Given the description of an element on the screen output the (x, y) to click on. 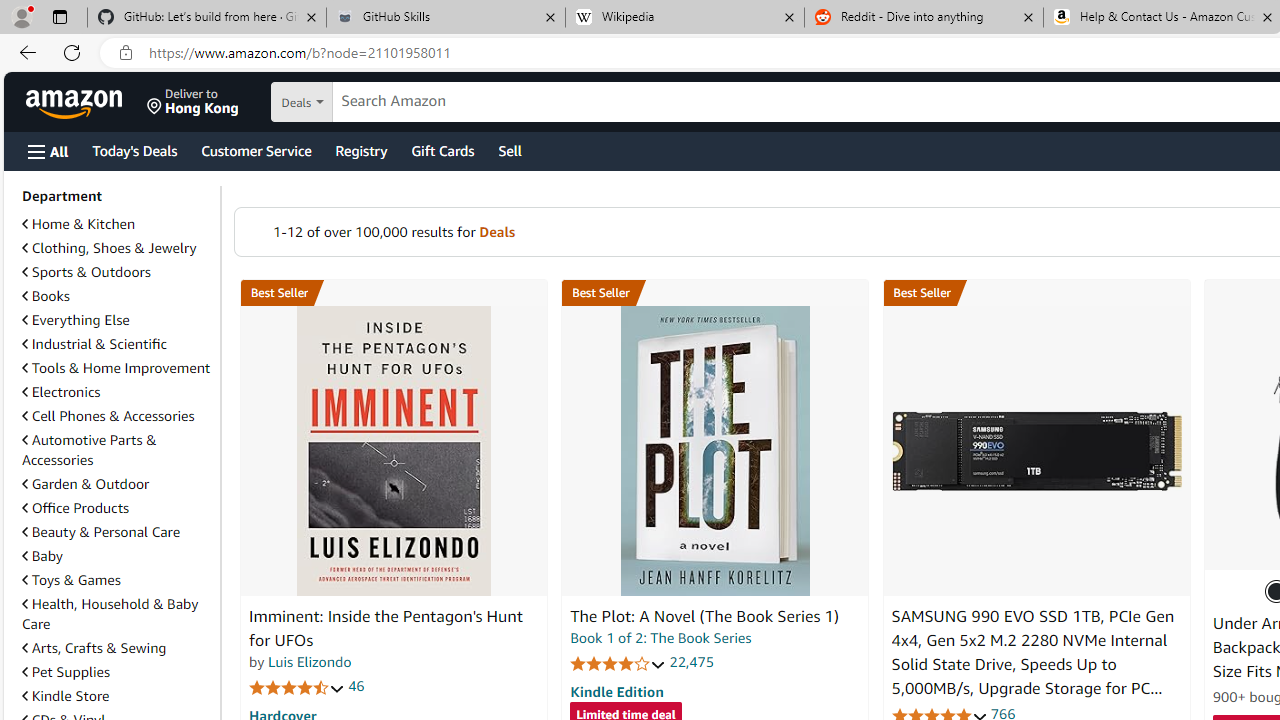
Books (45, 296)
The Plot: A Novel (The Book Series 1) (714, 451)
Registry (360, 150)
4.7 out of 5 stars (297, 686)
Book 1 of 2: The Book Series (660, 638)
Kindle Edition (616, 691)
Everything Else (117, 319)
Industrial & Scientific (94, 343)
Office Products (117, 507)
Best Seller in Internal Solid State Drives (1036, 293)
Arts, Crafts & Sewing (93, 647)
Amazon (76, 101)
The Plot: A Novel (The Book Series 1) (703, 616)
Home & Kitchen (78, 224)
